Given the description of an element on the screen output the (x, y) to click on. 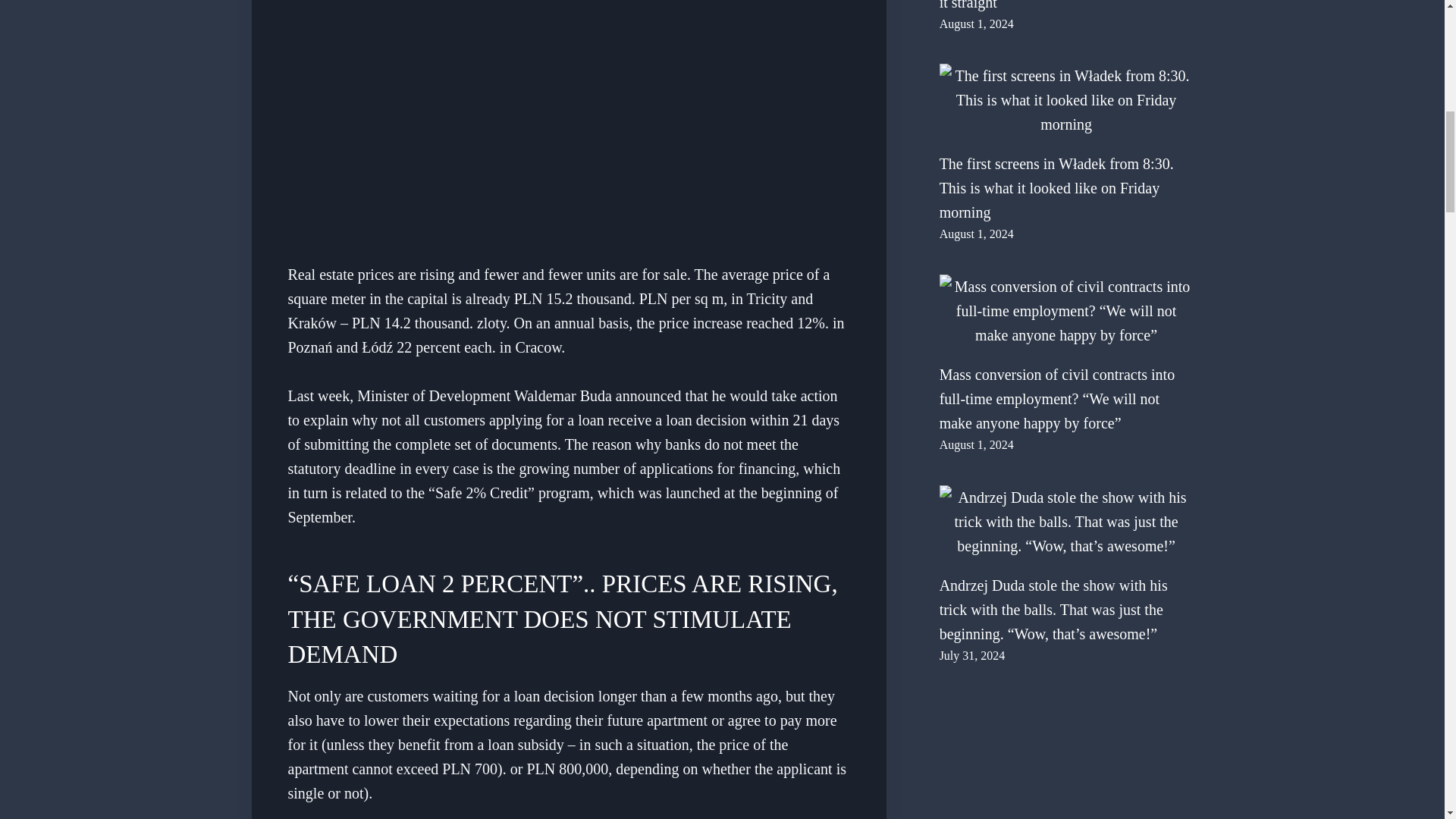
1:27 am (976, 444)
9:26 pm (972, 655)
August 1, 2024 (976, 444)
July 31, 2024 (972, 655)
5:26 am (976, 233)
August 1, 2024 (976, 23)
August 1, 2024 (976, 233)
6:27 am (976, 23)
